Given the description of an element on the screen output the (x, y) to click on. 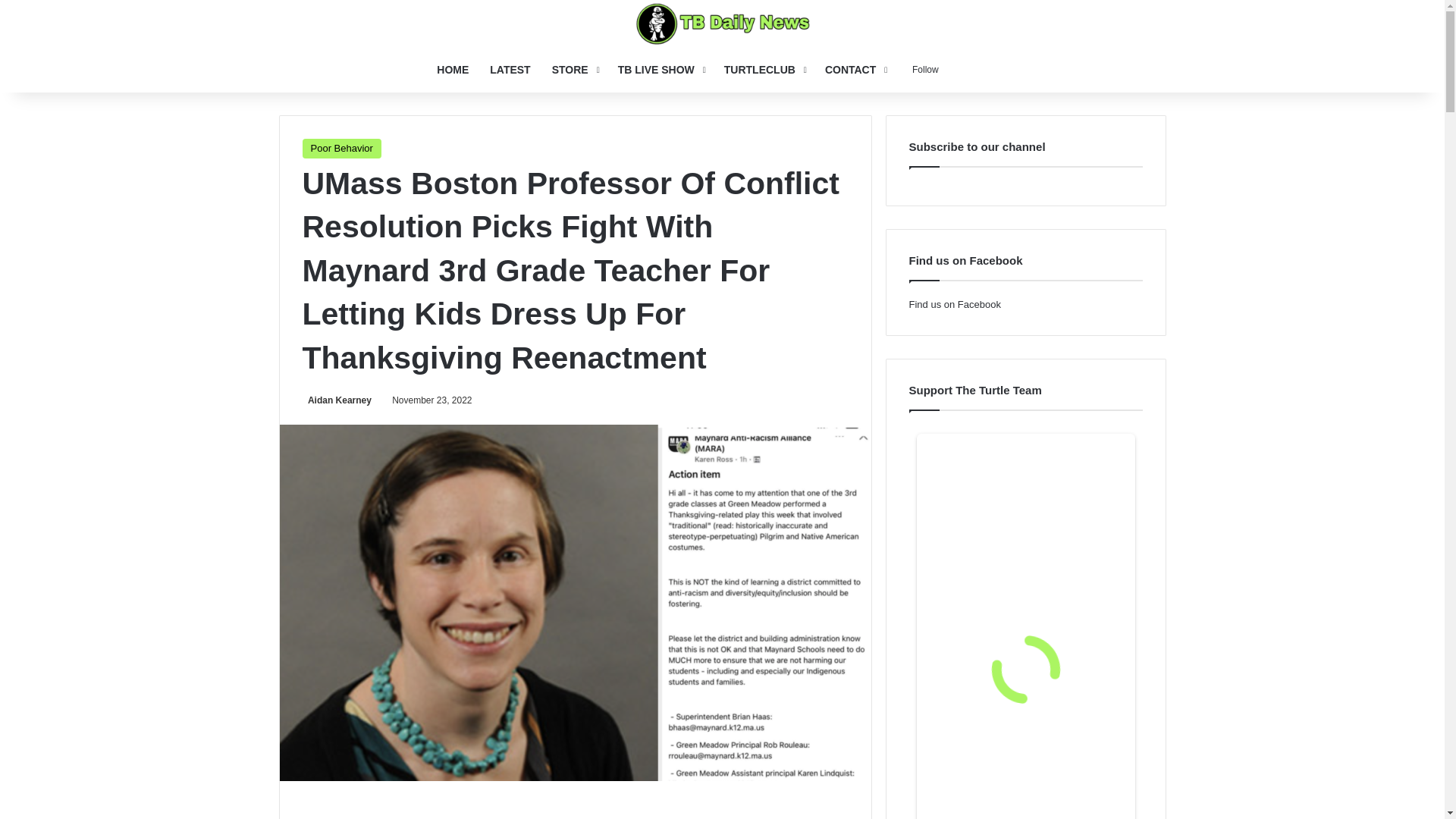
Aidan Kearney (336, 399)
LATEST (509, 69)
Follow (922, 69)
TB Daily News (721, 24)
HOME (452, 69)
CONTACT (854, 69)
TURTLECLUB (763, 69)
STORE (574, 69)
Poor Behavior (340, 148)
Aidan Kearney (336, 399)
